Given the description of an element on the screen output the (x, y) to click on. 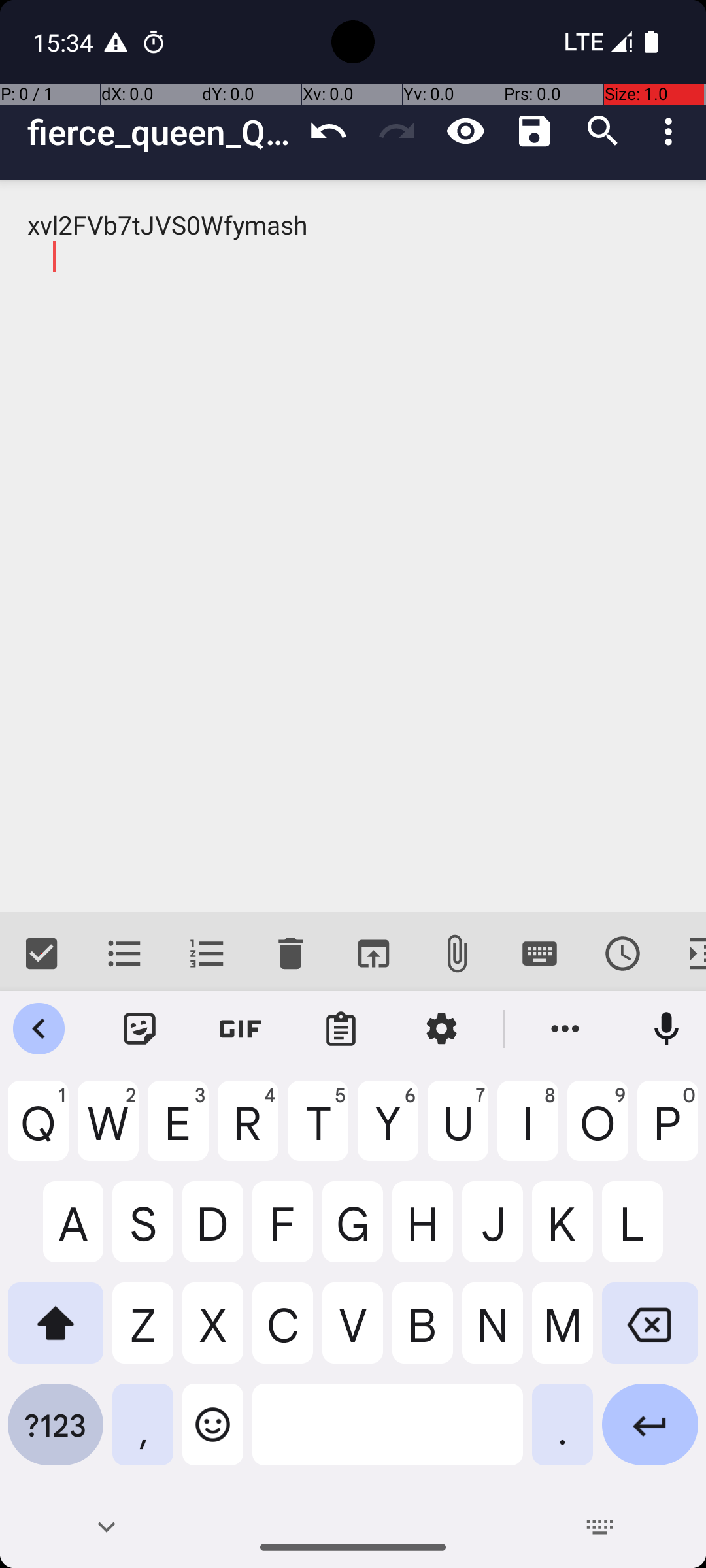
fierce_queen_QaaS Element type: android.widget.TextView (160, 131)
xvl2FVb7tJVS0Wfymash
     Element type: android.widget.EditText (353, 545)
Ordered list Element type: android.widget.ImageView (207, 953)
Indent Element type: android.widget.ImageView (685, 953)
